Given the description of an element on the screen output the (x, y) to click on. 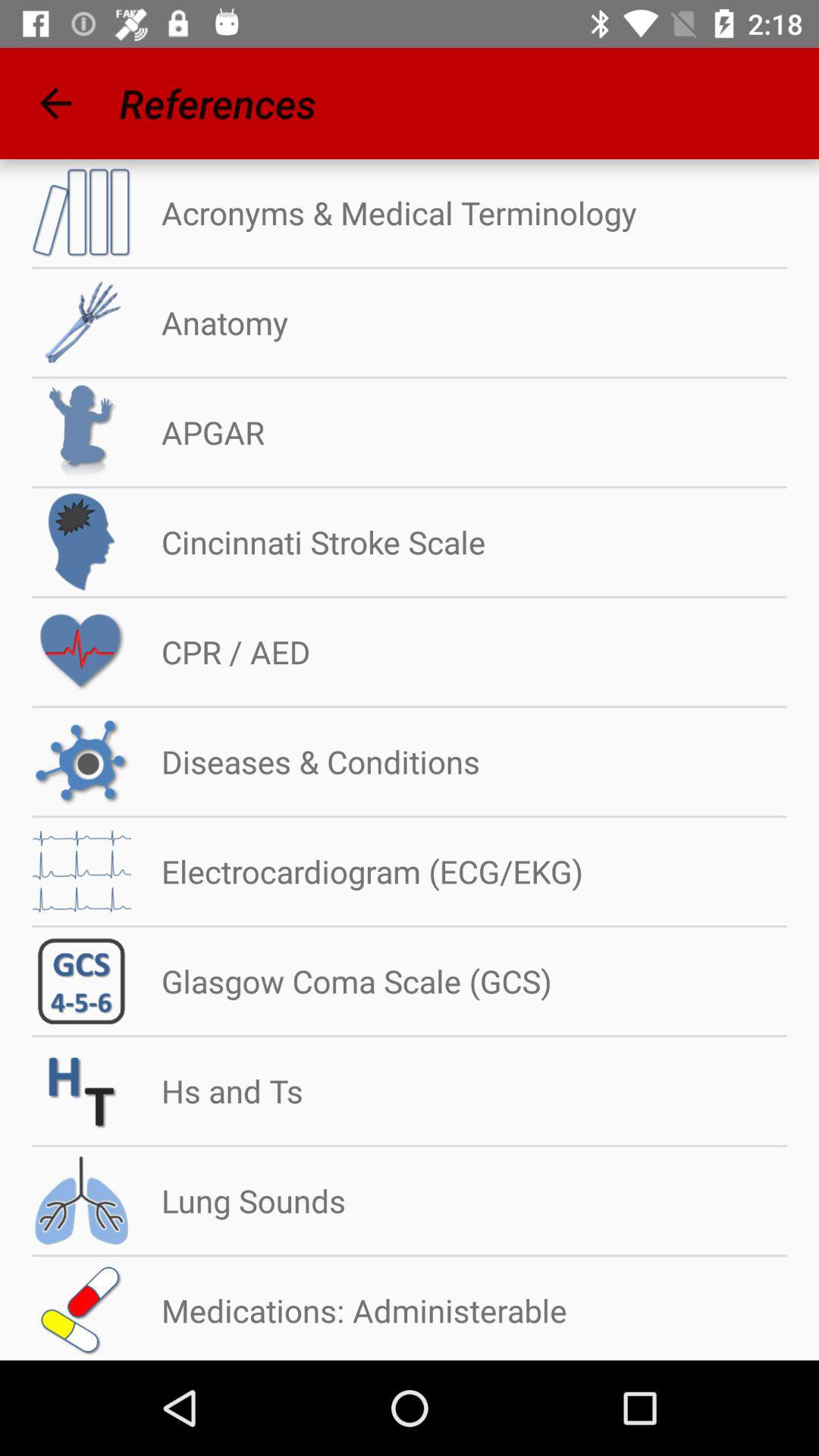
scroll to cincinnati stroke scale icon (308, 542)
